Given the description of an element on the screen output the (x, y) to click on. 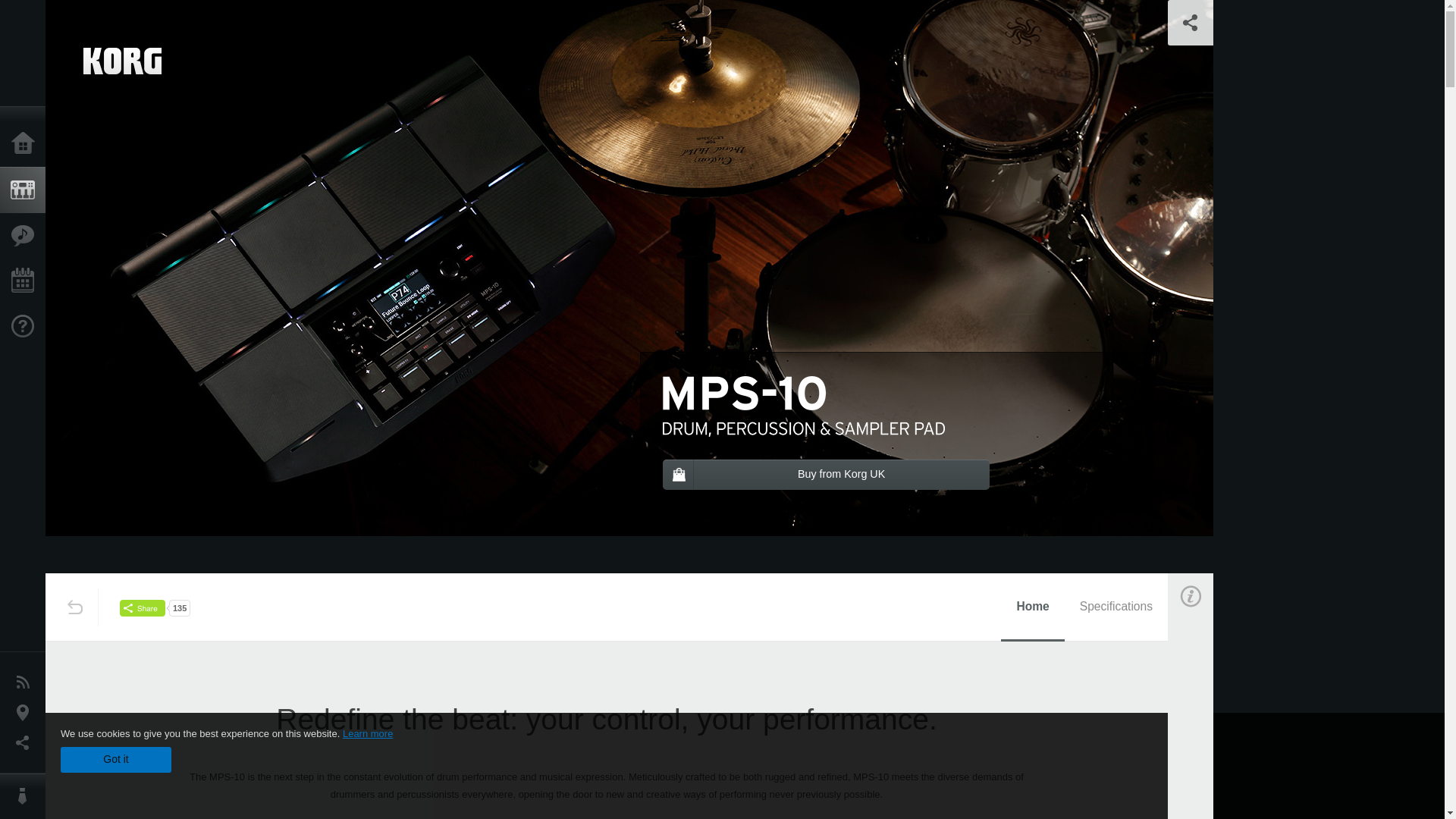
Buy from Korg UK (826, 474)
Home (1032, 607)
Features (26, 235)
Support (26, 326)
Products (26, 189)
News (26, 682)
Events (26, 280)
Home (26, 144)
Social Media (26, 743)
Specifications (1115, 606)
Location (26, 712)
Learn more (367, 733)
About KORG (26, 796)
